Given the description of an element on the screen output the (x, y) to click on. 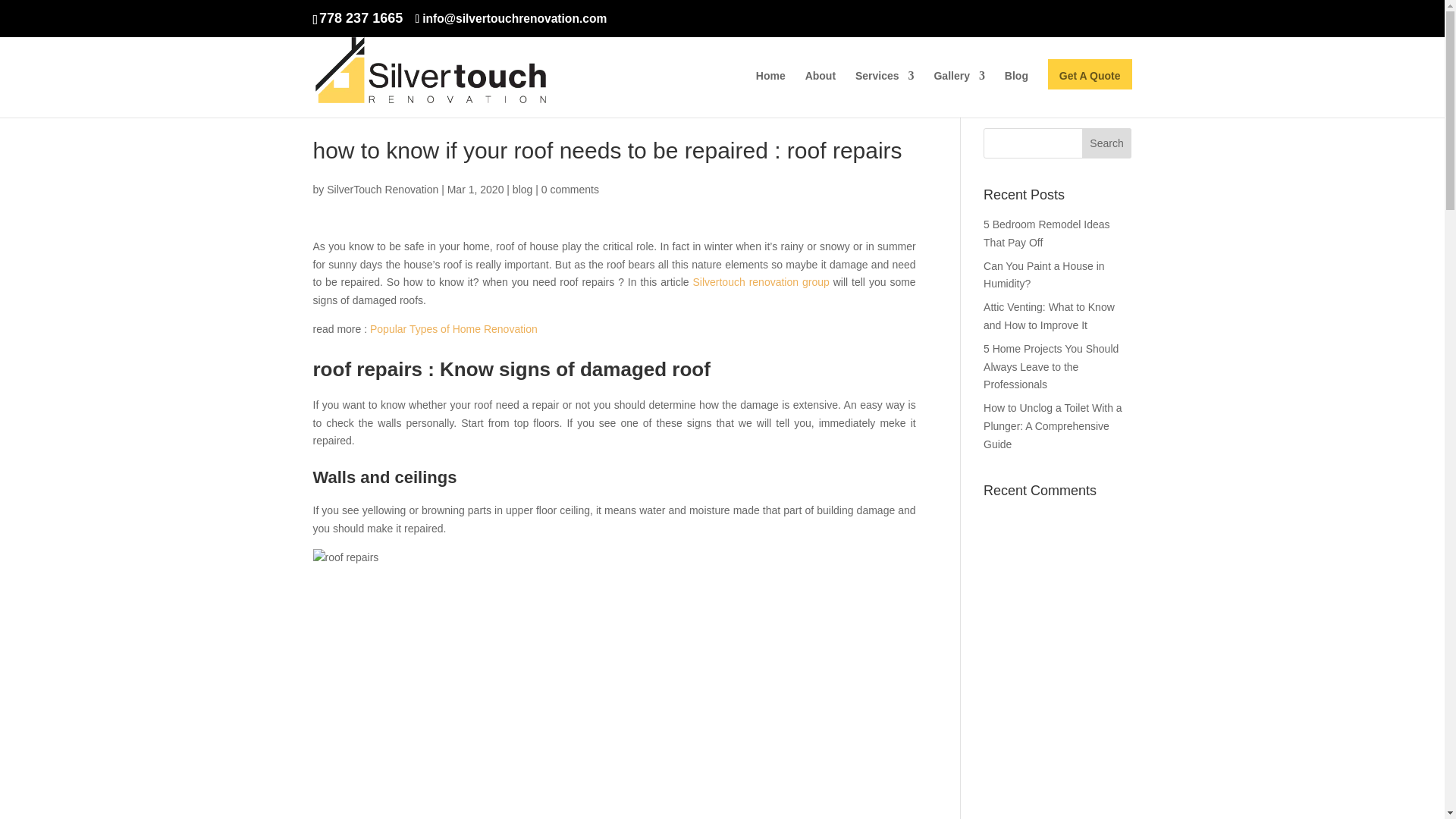
5 Home Projects You Should Always Leave to the Professionals (1051, 367)
0 comments (569, 189)
Get A Quote (1090, 93)
5 Bedroom Remodel Ideas That Pay Off (1046, 233)
778 237 1665 (360, 17)
Popular Types of Home Renovation (453, 328)
Attic Venting: What to Know and How to Improve It (1049, 316)
Gallery (958, 93)
Can You Paint a House in Humidity? (1044, 275)
Silvertouch renovation group (760, 282)
SilverTouch Renovation (382, 189)
Search (1106, 142)
Services (885, 93)
How to Unclog a Toilet With a Plunger: A Comprehensive Guide (1053, 426)
Search (1106, 142)
